Given the description of an element on the screen output the (x, y) to click on. 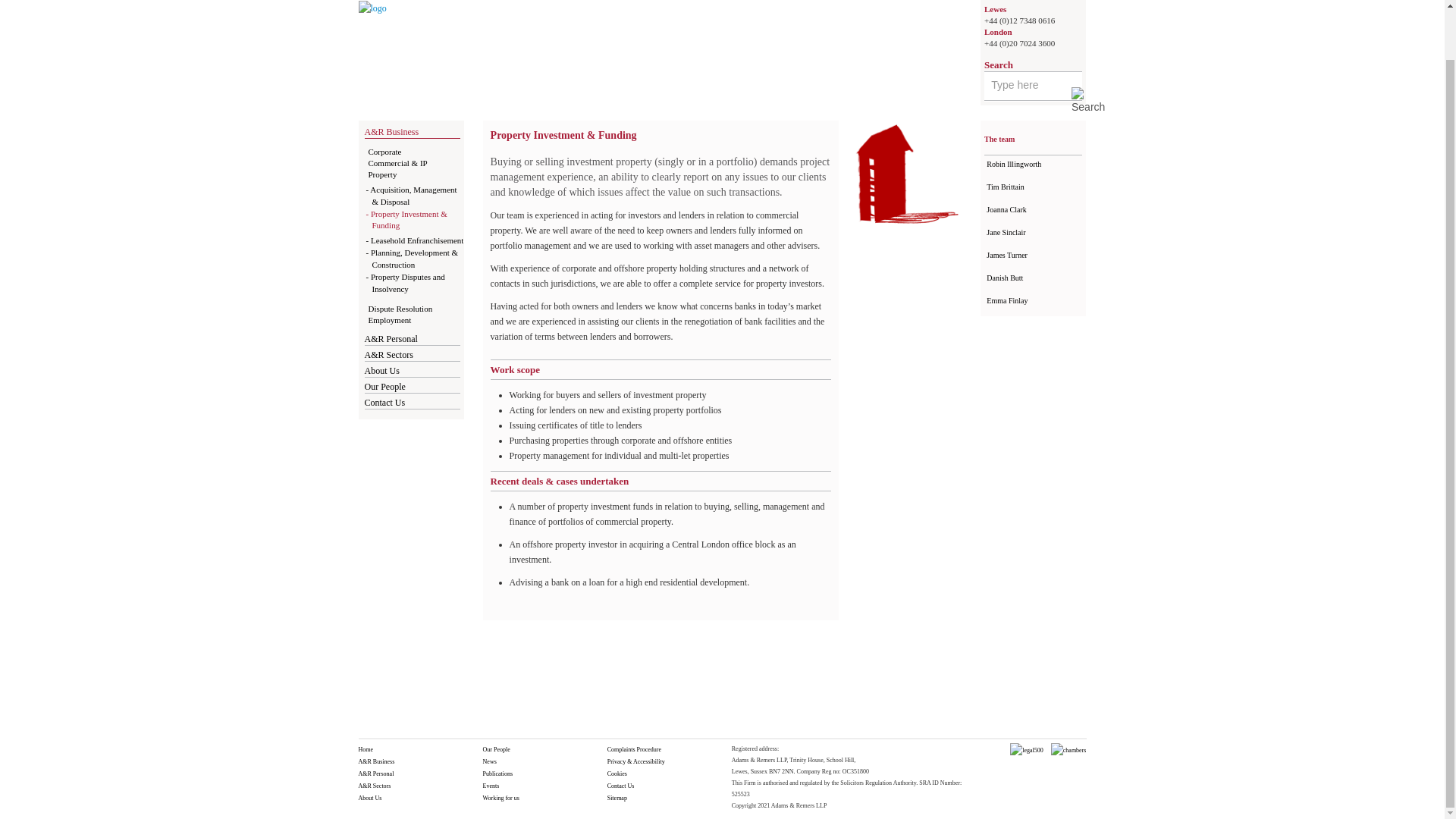
Home (371, 7)
Lewes (995, 8)
London (997, 31)
Corporate (384, 151)
